Given the description of an element on the screen output the (x, y) to click on. 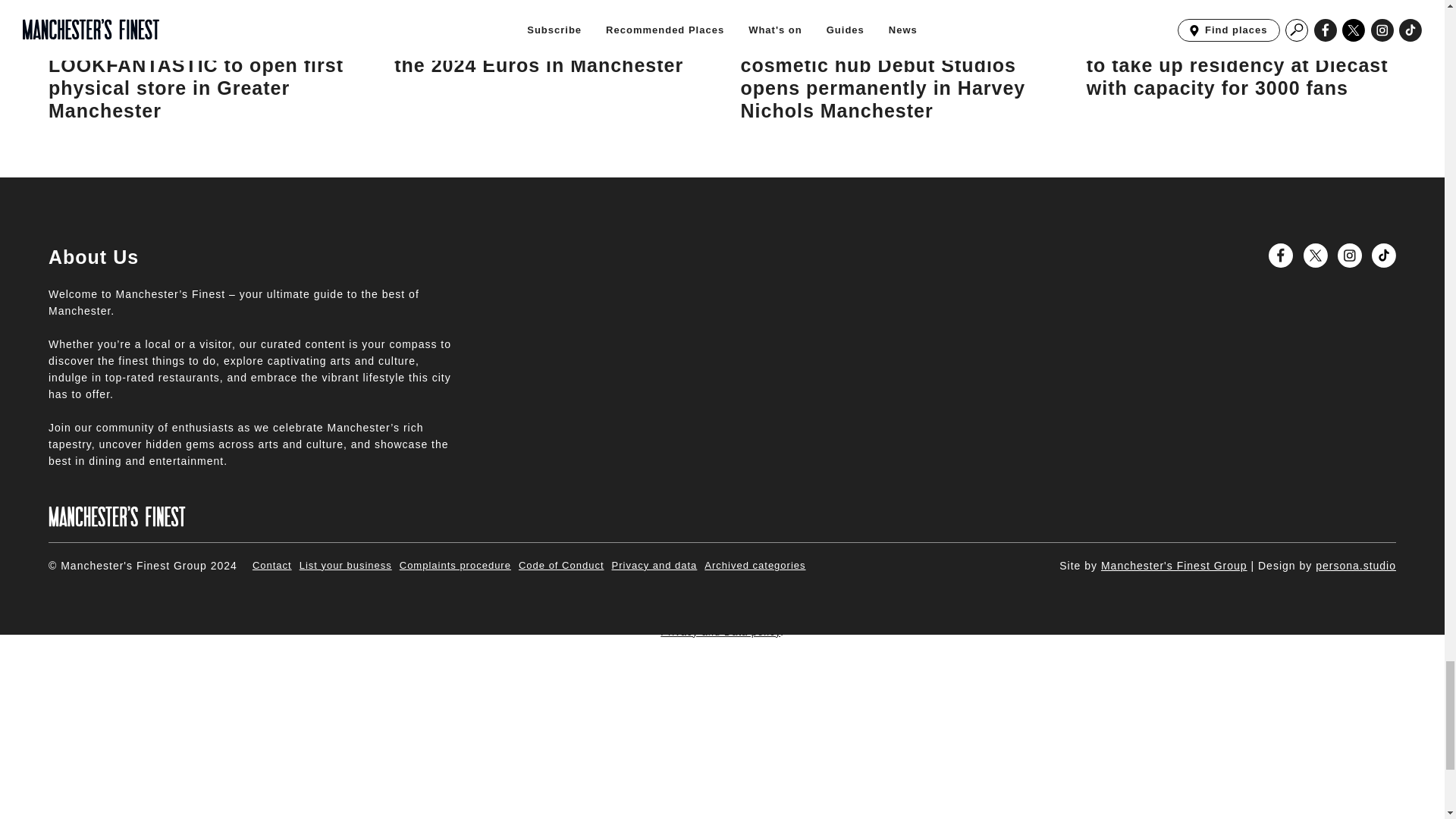
Go to Manchester's Finest X profile (1315, 255)
Go to Manchester's Finest Facebook page (1280, 255)
Go to Manchester's Finest Instagram profile (1349, 255)
Go to Manchester's Finest TikTok profile (1383, 255)
